Given the description of an element on the screen output the (x, y) to click on. 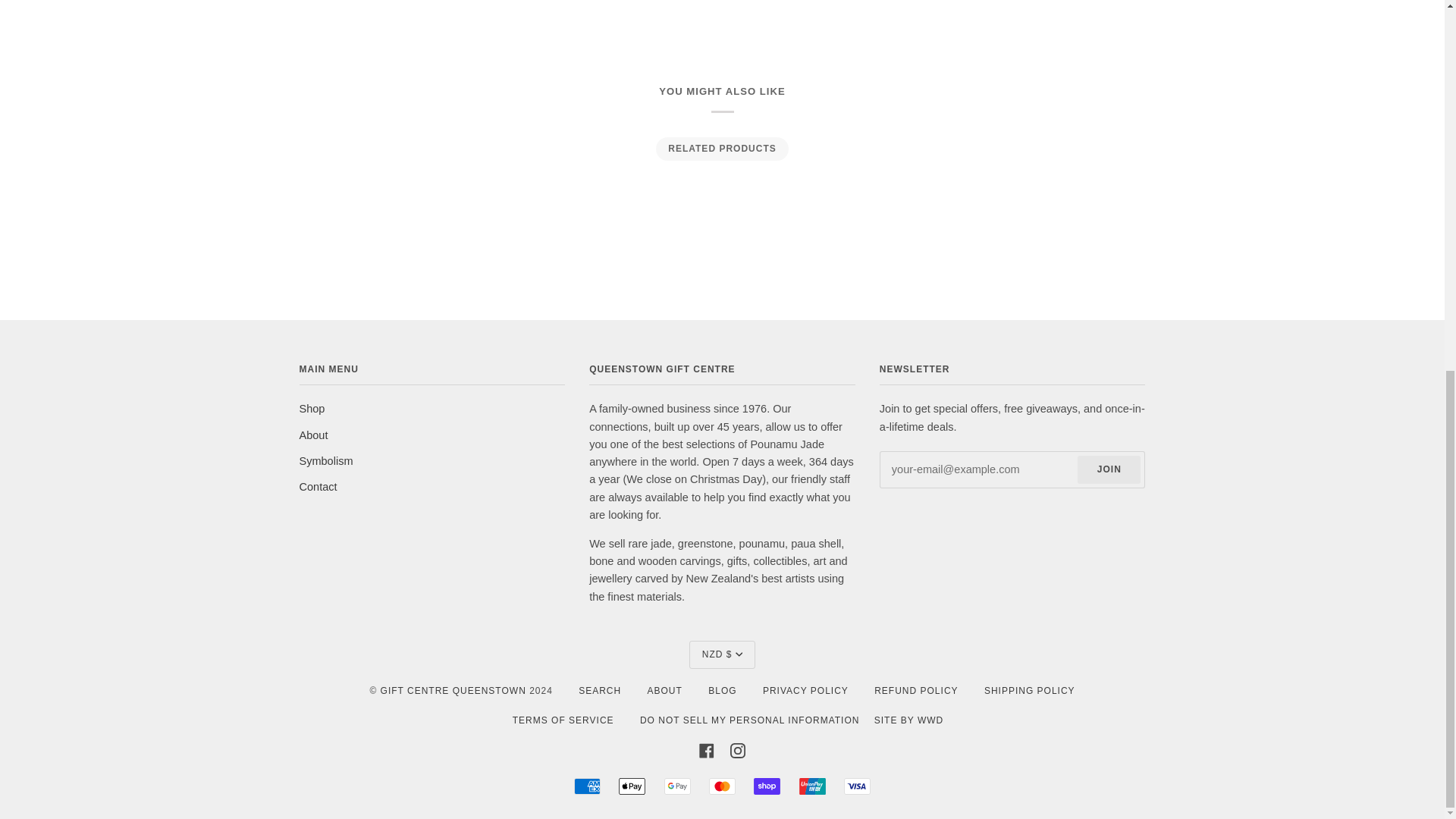
VISA (857, 786)
GOOGLE PAY (676, 786)
SHOP PAY (767, 786)
Facebook (706, 749)
AMERICAN EXPRESS (586, 786)
APPLE PAY (631, 786)
UNION PAY (812, 786)
Instagram (737, 749)
MASTERCARD (722, 786)
RELATED PRODUCTS (721, 148)
